Given the description of an element on the screen output the (x, y) to click on. 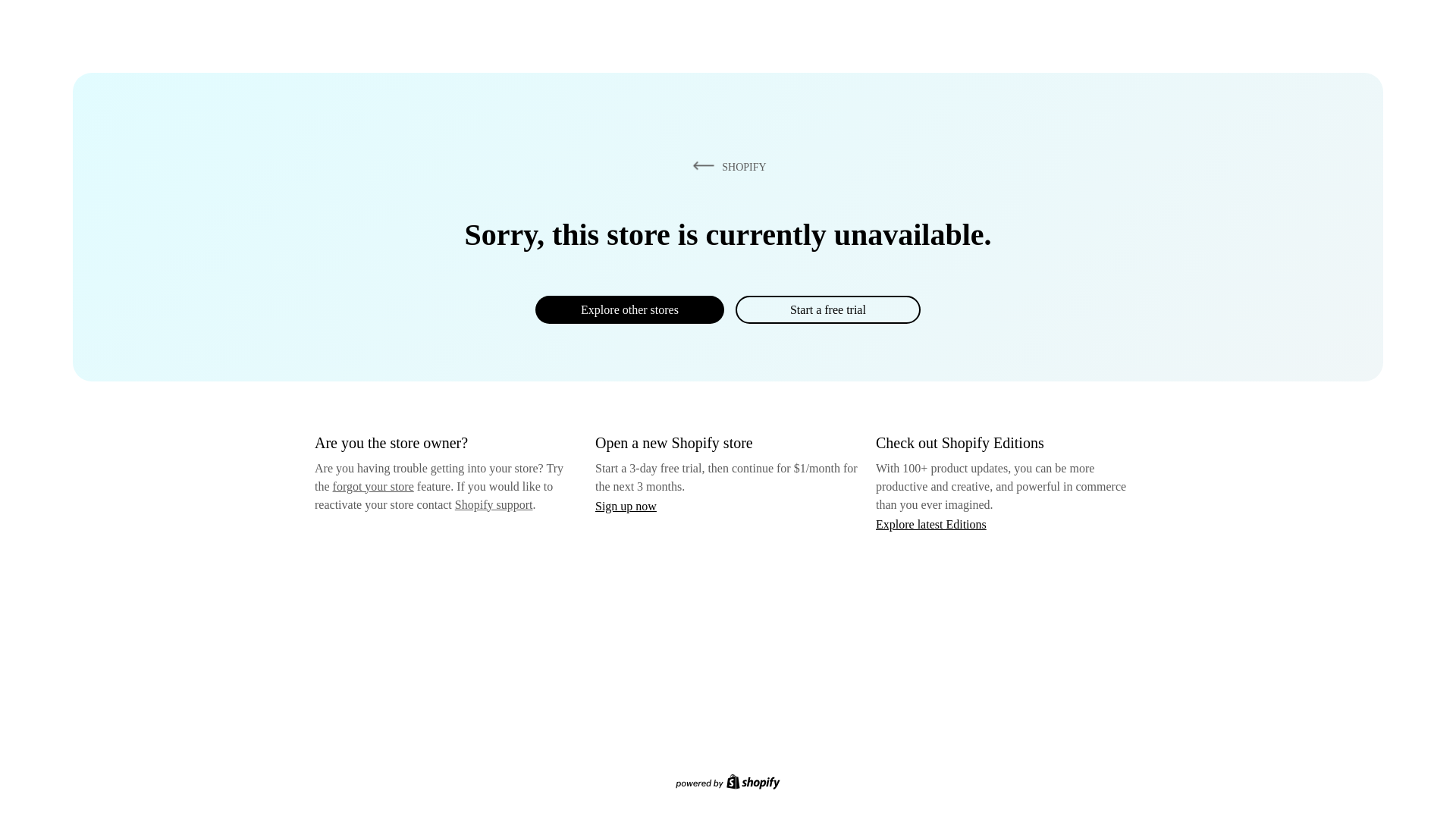
SHOPIFY (726, 166)
Explore latest Editions (931, 523)
Sign up now (625, 505)
Shopify support (493, 504)
Explore other stores (629, 309)
forgot your store (373, 486)
Start a free trial (827, 309)
